Given the description of an element on the screen output the (x, y) to click on. 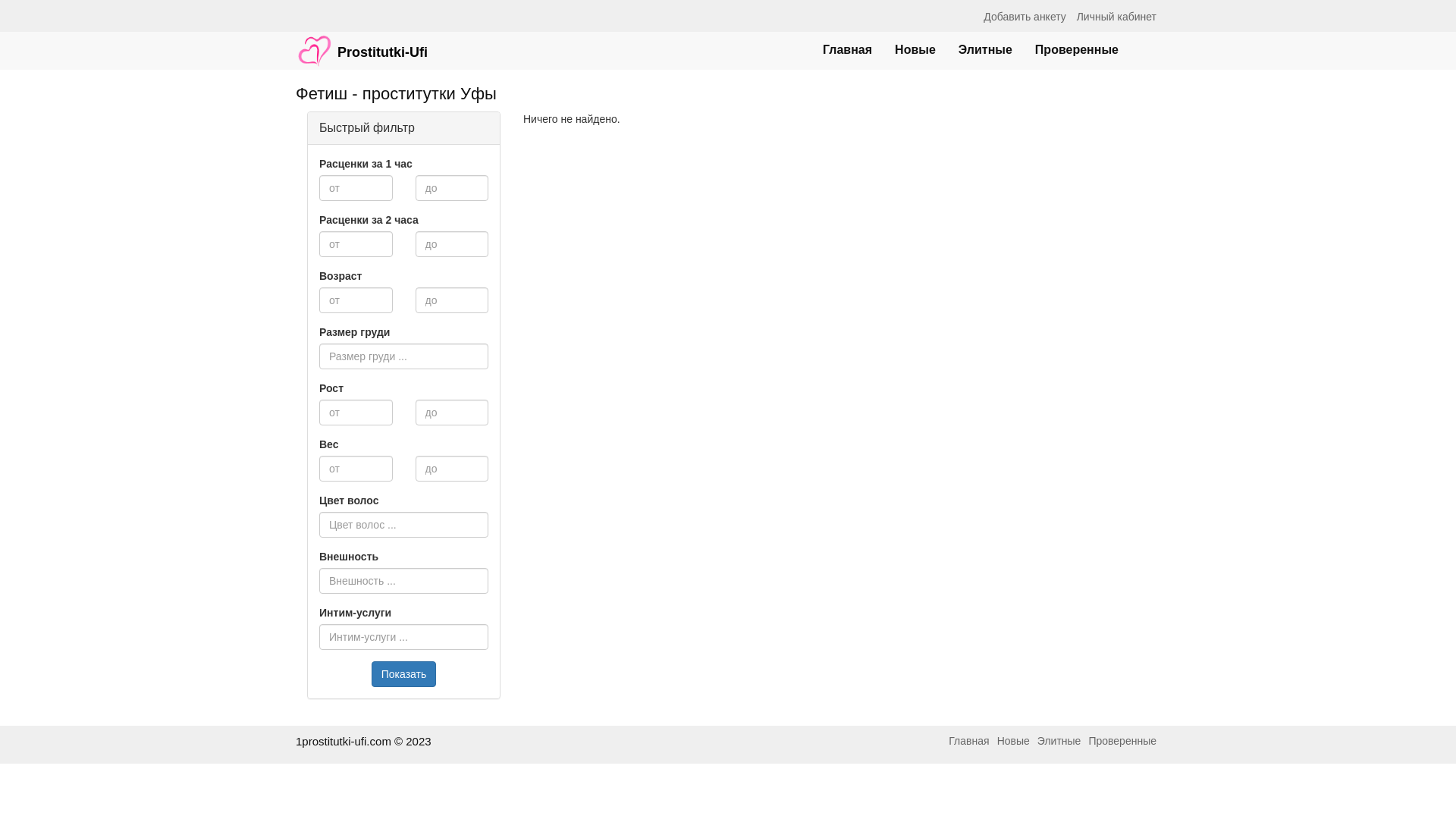
Prostitutki-Ufi Element type: text (361, 43)
